Given the description of an element on the screen output the (x, y) to click on. 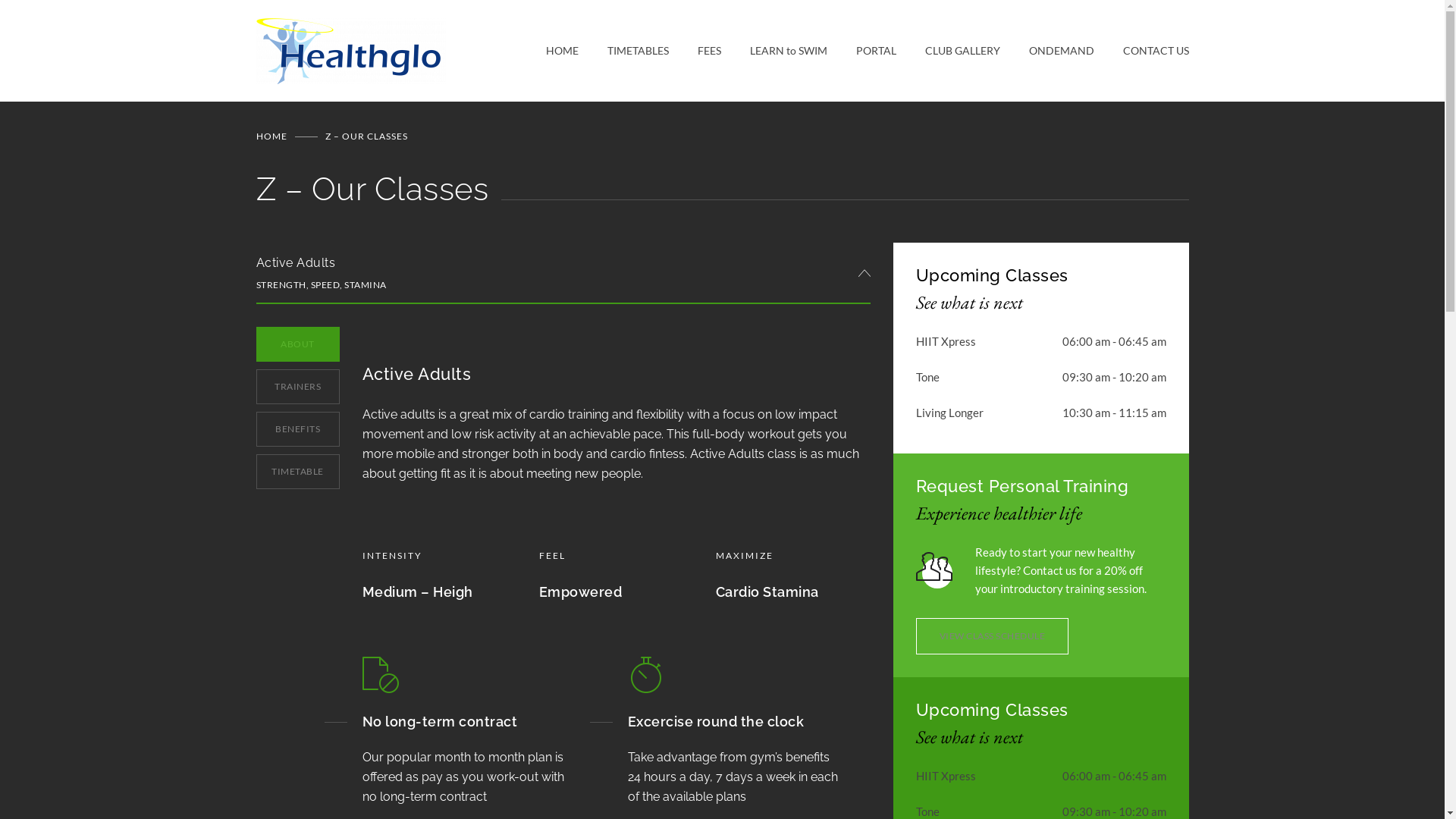
TIMETABLES Element type: text (622, 50)
TIMETABLE Element type: text (297, 471)
PORTAL Element type: text (860, 50)
Tone Element type: text (927, 811)
LEARN to SWIM Element type: text (773, 50)
Living Longer Element type: text (949, 412)
HIIT Xpress Element type: text (945, 341)
Tone Element type: text (927, 376)
FEES Element type: text (694, 50)
ONDEMAND Element type: text (1046, 50)
TRAINERS Element type: text (297, 386)
BENEFITS Element type: text (297, 428)
CLUB GALLERY Element type: text (948, 50)
ABOUT Element type: text (297, 343)
VIEW CLASS SCHEDULE Element type: text (992, 636)
HOME Element type: text (271, 135)
HIIT Xpress Element type: text (945, 775)
Healthglo Fitness & Leisure Centre Element type: hover (401, 50)
CONTACT US Element type: text (1140, 50)
HOME Element type: text (562, 50)
